Given the description of an element on the screen output the (x, y) to click on. 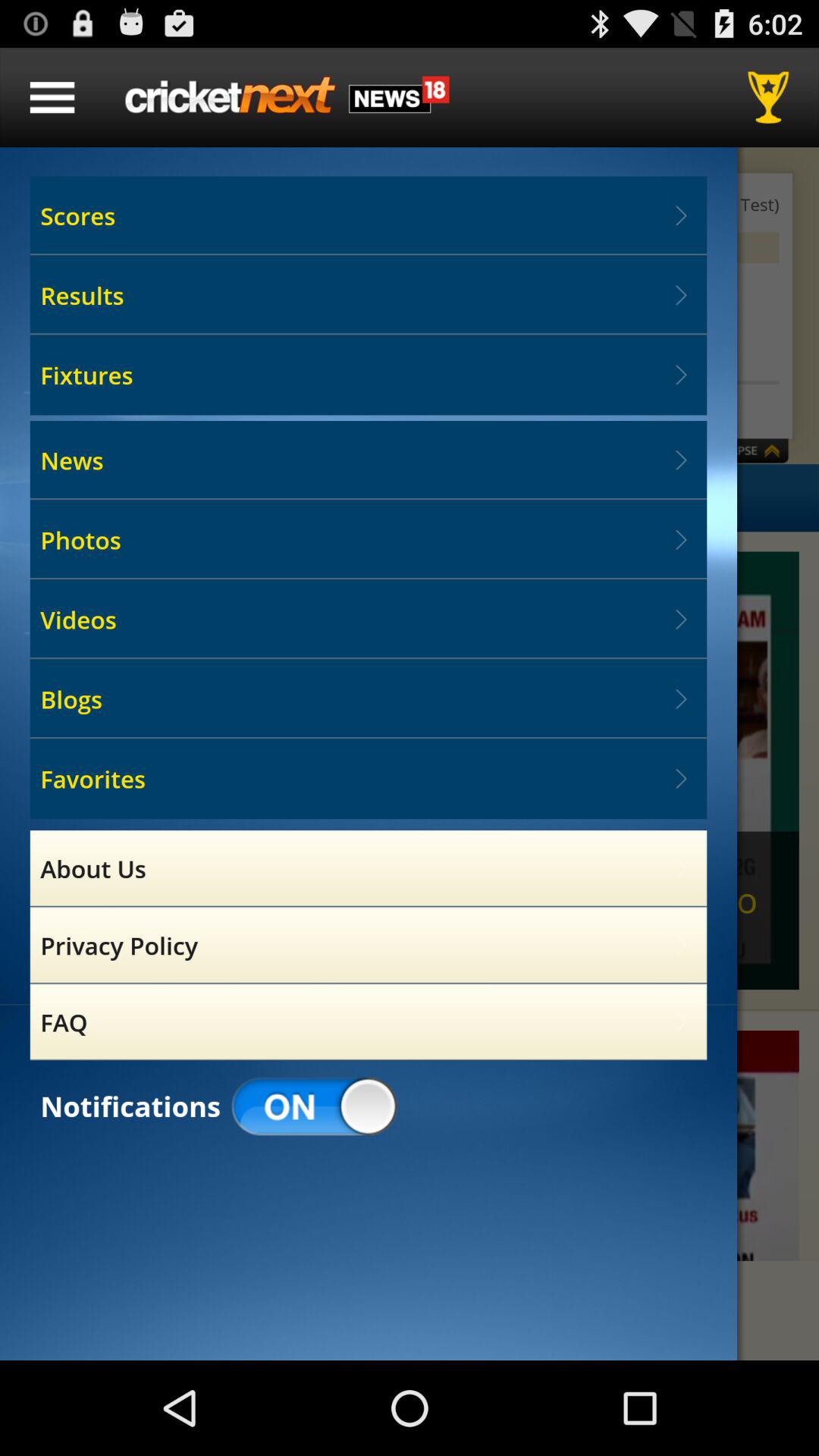
click on the notification (409, 1145)
select the button next to notifications (314, 1107)
